Given the description of an element on the screen output the (x, y) to click on. 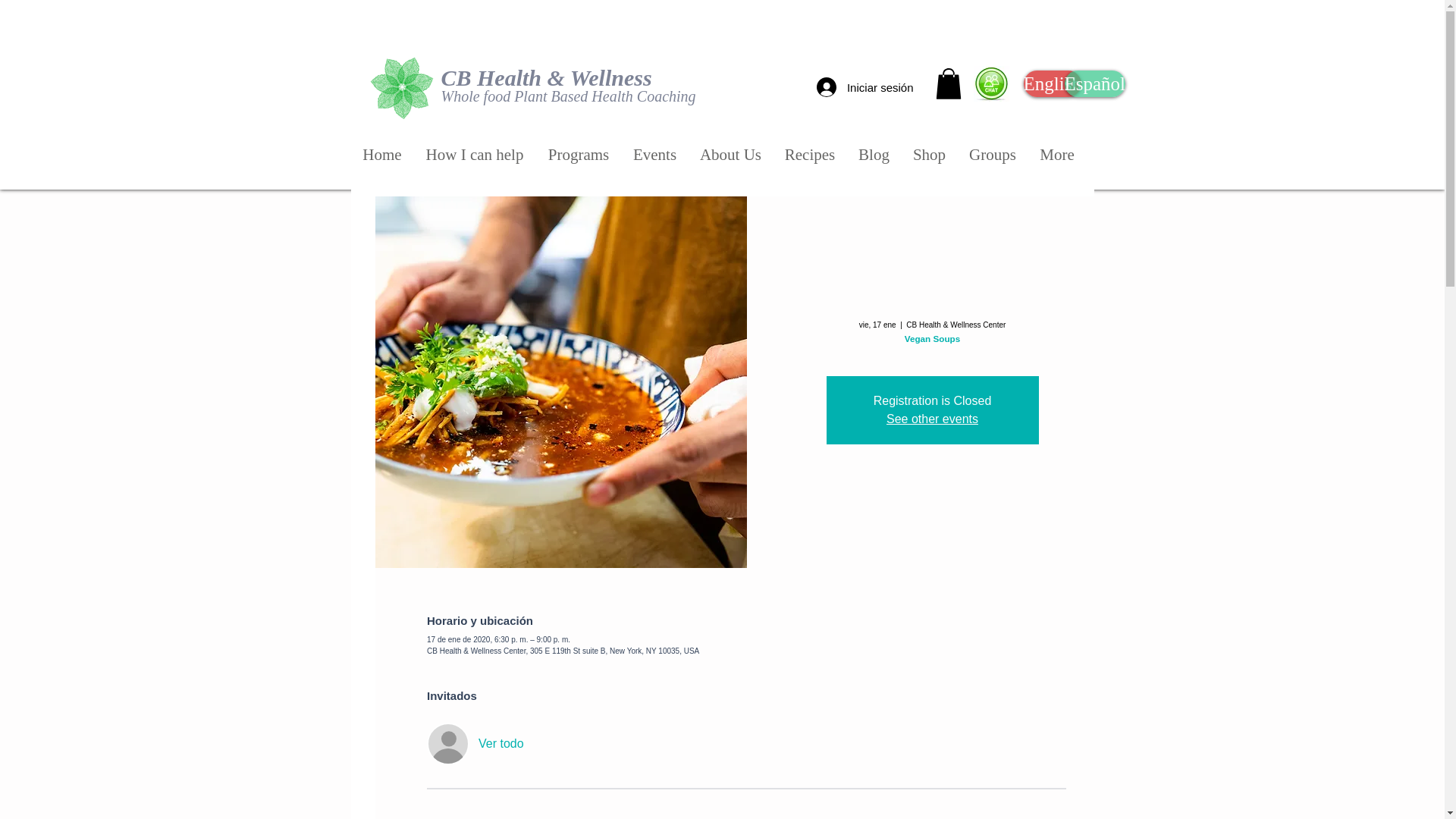
About Us (730, 154)
Programs (578, 154)
Events (654, 154)
English (1052, 83)
Home (381, 154)
How I can help (474, 154)
Whole food Plant Based Health Coaching (568, 95)
Recipes (810, 154)
